Given the description of an element on the screen output the (x, y) to click on. 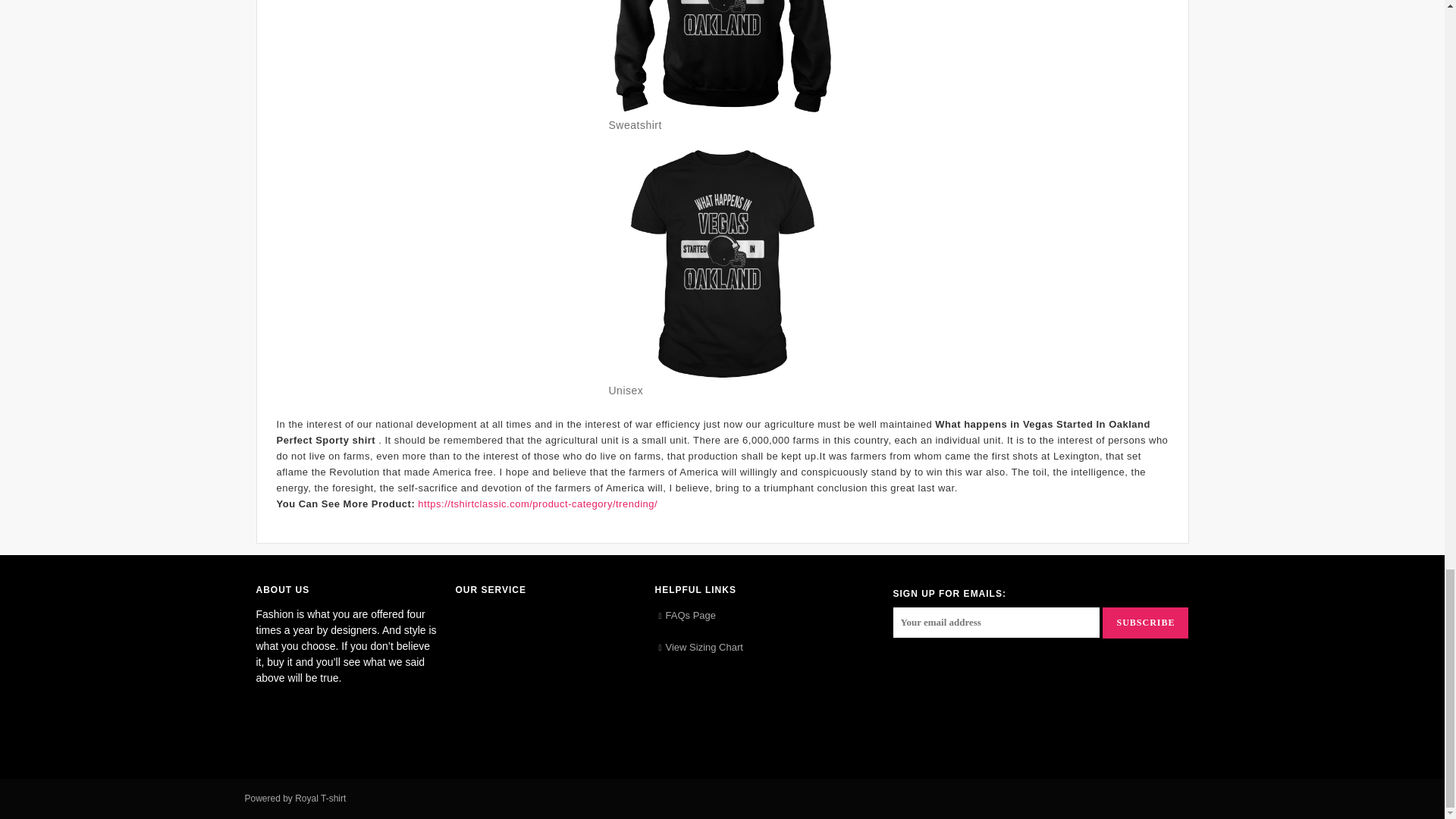
Subscribe (1145, 622)
